Given the description of an element on the screen output the (x, y) to click on. 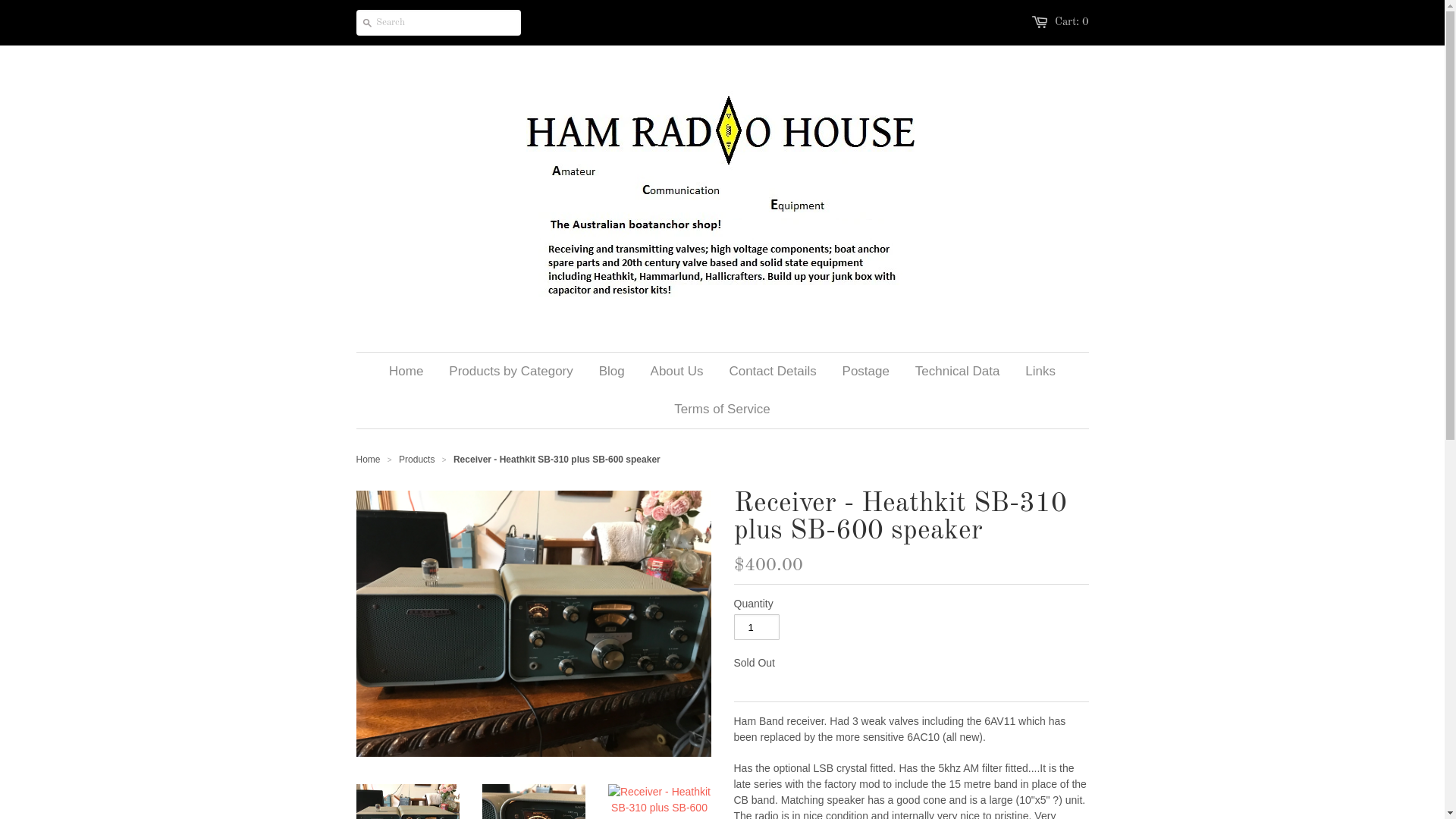
Cart: 0 Element type: text (1071, 22)
Links Element type: text (1039, 371)
Terms of Service Element type: text (721, 409)
Postage Element type: text (865, 371)
Technical Data Element type: text (957, 371)
About Us Element type: text (677, 371)
Products Element type: text (416, 459)
Contact Details Element type: text (772, 371)
Home Element type: text (368, 459)
Blog Element type: text (611, 371)
Home Element type: text (405, 371)
Products by Category Element type: text (510, 371)
